Given the description of an element on the screen output the (x, y) to click on. 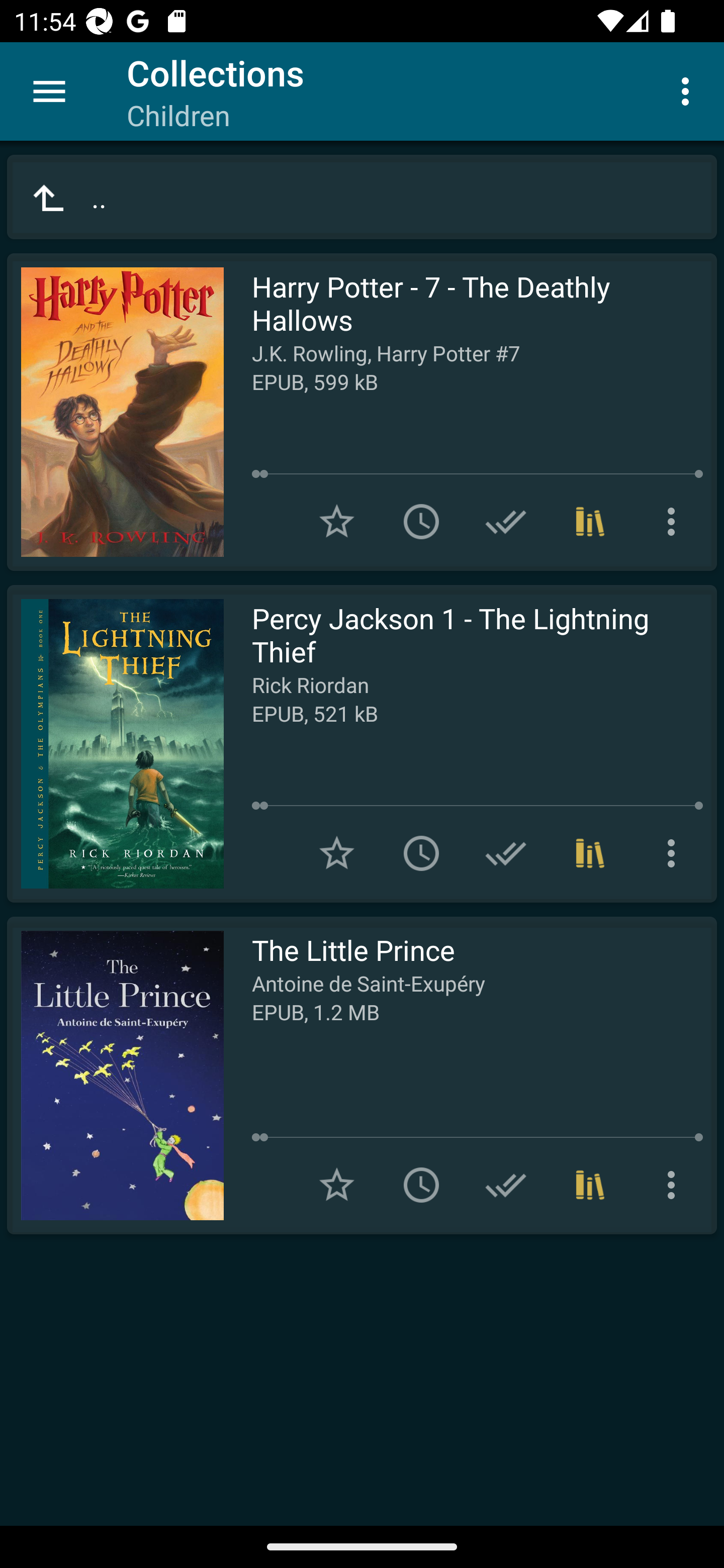
Menu (49, 91)
More options (688, 90)
.. (361, 197)
Read Harry Potter - 7 - The Deathly Hallows (115, 412)
Add to Favorites (336, 521)
Add to To read (421, 521)
Add to Have read (505, 521)
Collections (1) (590, 521)
More options (674, 521)
Read Percy Jackson 1 - The Lightning Thief (115, 743)
Add to Favorites (336, 852)
Add to To read (421, 852)
Add to Have read (505, 852)
Collections (1) (590, 852)
More options (674, 852)
Read The Little Prince (115, 1075)
Add to Favorites (336, 1185)
Add to To read (421, 1185)
Add to Have read (505, 1185)
Collections (1) (590, 1185)
More options (674, 1185)
